Given the description of an element on the screen output the (x, y) to click on. 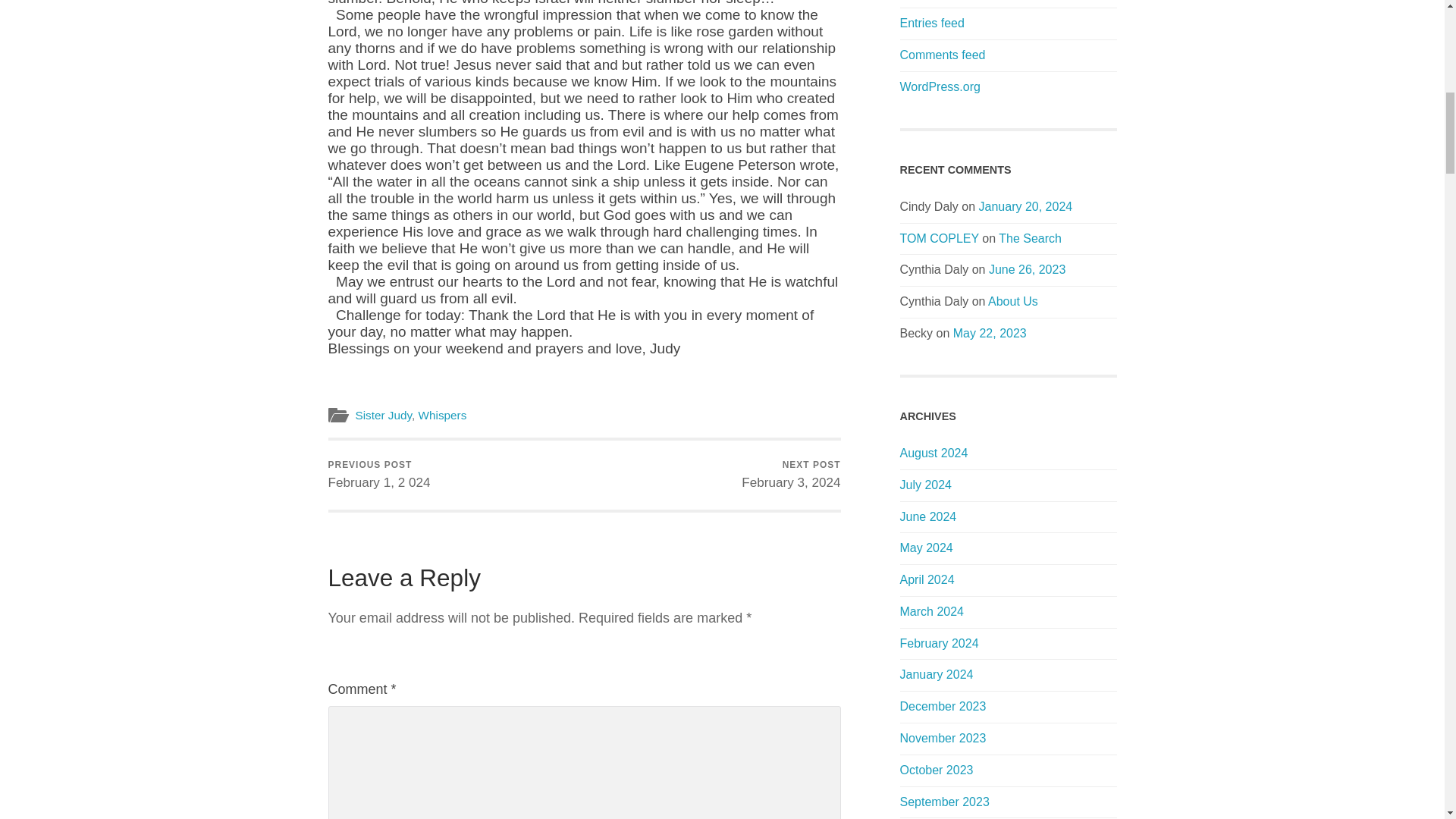
Sister Judy (383, 414)
WordPress.org (790, 474)
TOM COPLEY (939, 86)
Comments feed (378, 474)
Entries feed (938, 237)
Whispers (942, 54)
January 20, 2024 (931, 22)
